Given the description of an element on the screen output the (x, y) to click on. 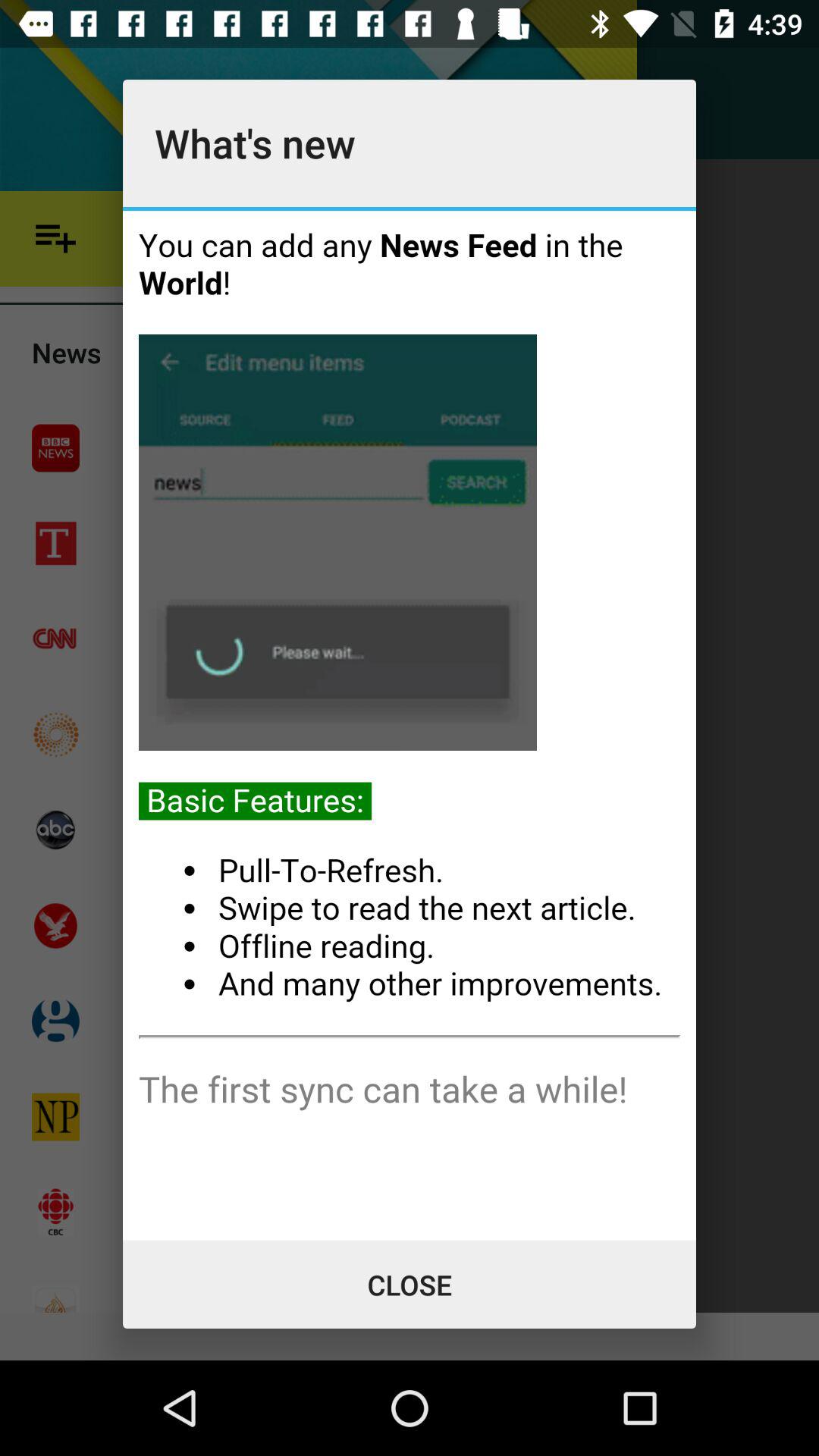
advertisement page (409, 725)
